Given the description of an element on the screen output the (x, y) to click on. 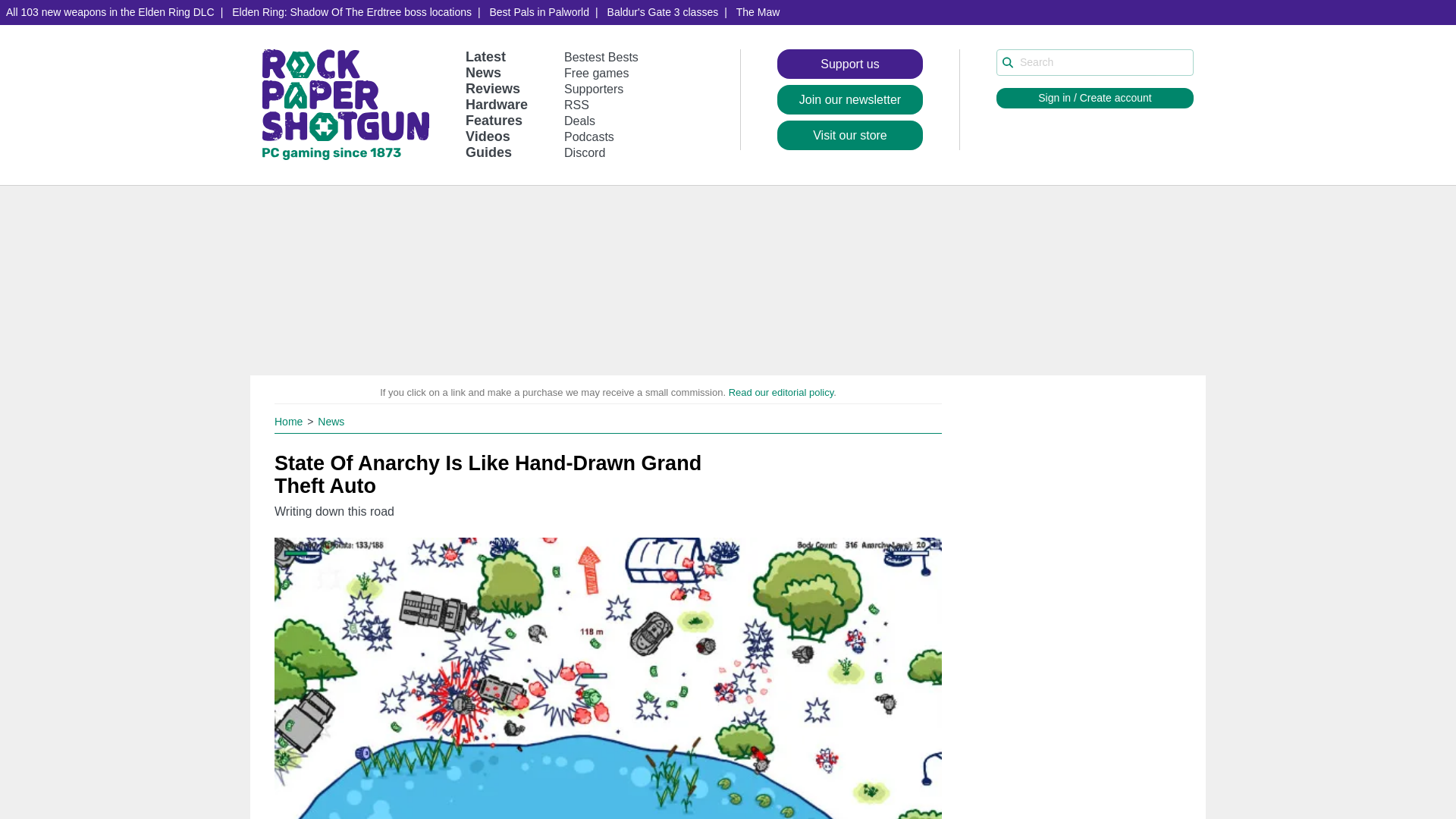
Latest (485, 56)
Support us (850, 63)
Elden Ring: Shadow Of The Erdtree boss locations (351, 12)
Free games (596, 72)
Discord (584, 152)
Podcasts (589, 136)
Bestest Bests (601, 56)
Deals (579, 120)
Reviews (492, 88)
Videos (488, 136)
Latest (485, 56)
Reviews (492, 88)
Supporters (593, 88)
The Maw (758, 12)
News (482, 72)
